Given the description of an element on the screen output the (x, y) to click on. 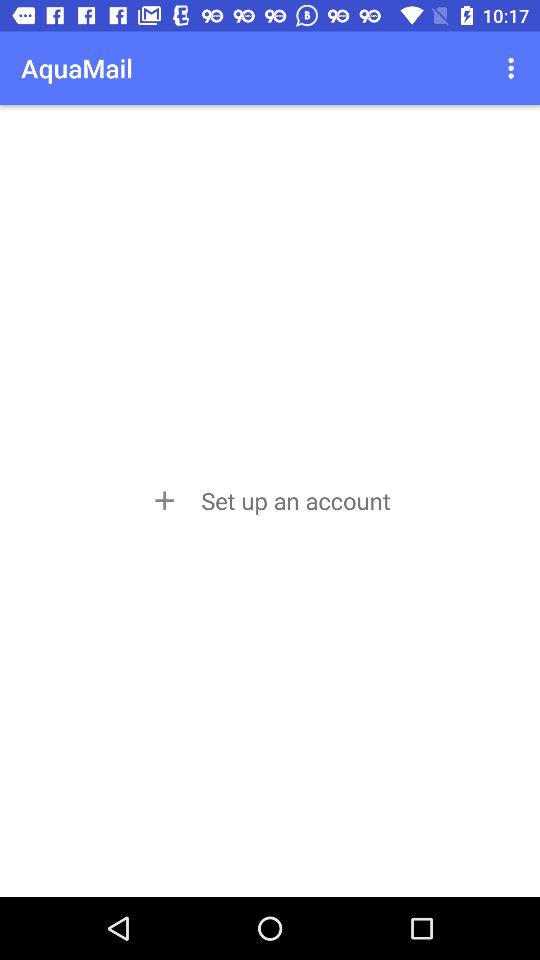
open the app below aquamail app (269, 500)
